Given the description of an element on the screen output the (x, y) to click on. 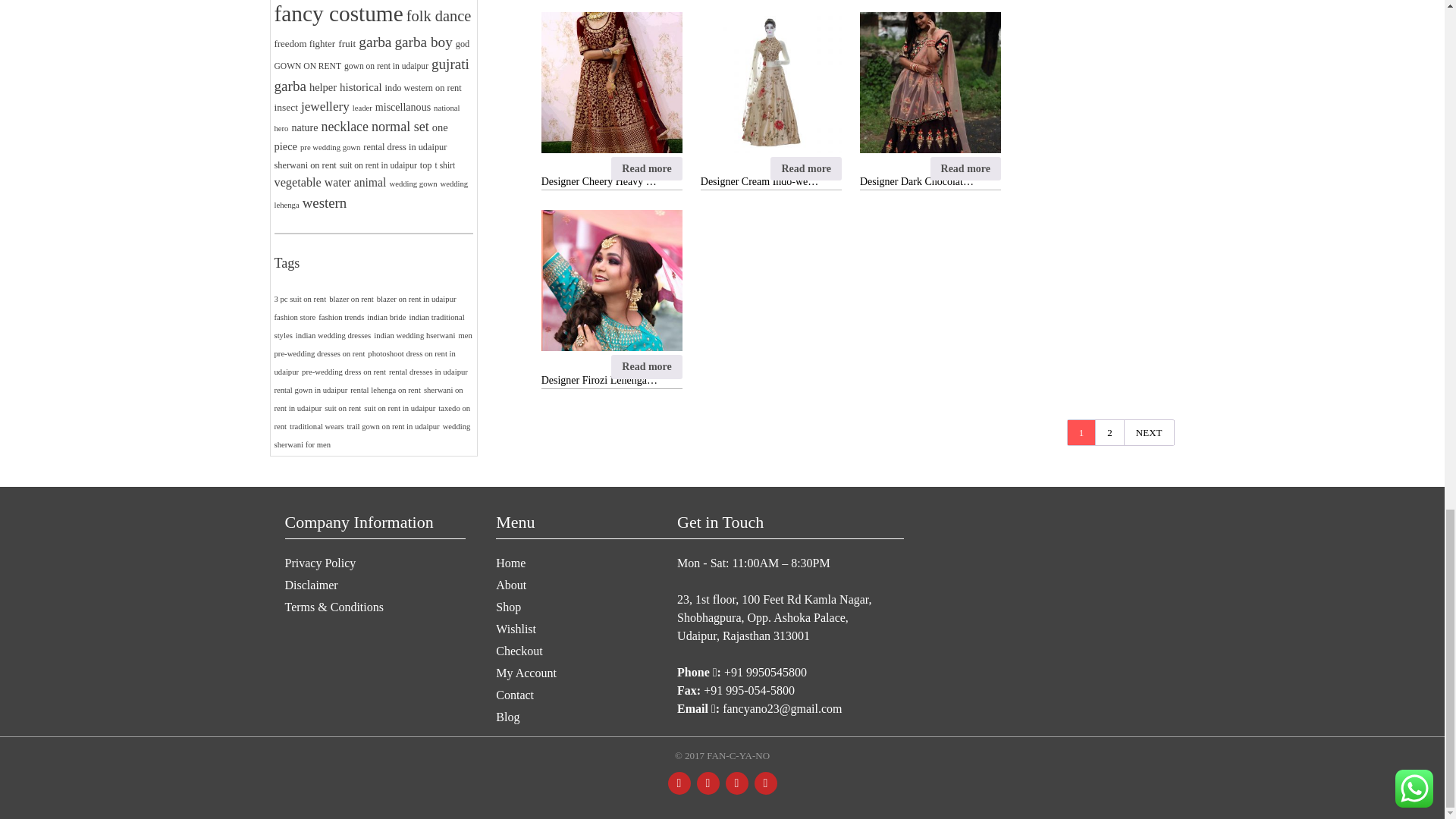
Store (722, 755)
